Given the description of an element on the screen output the (x, y) to click on. 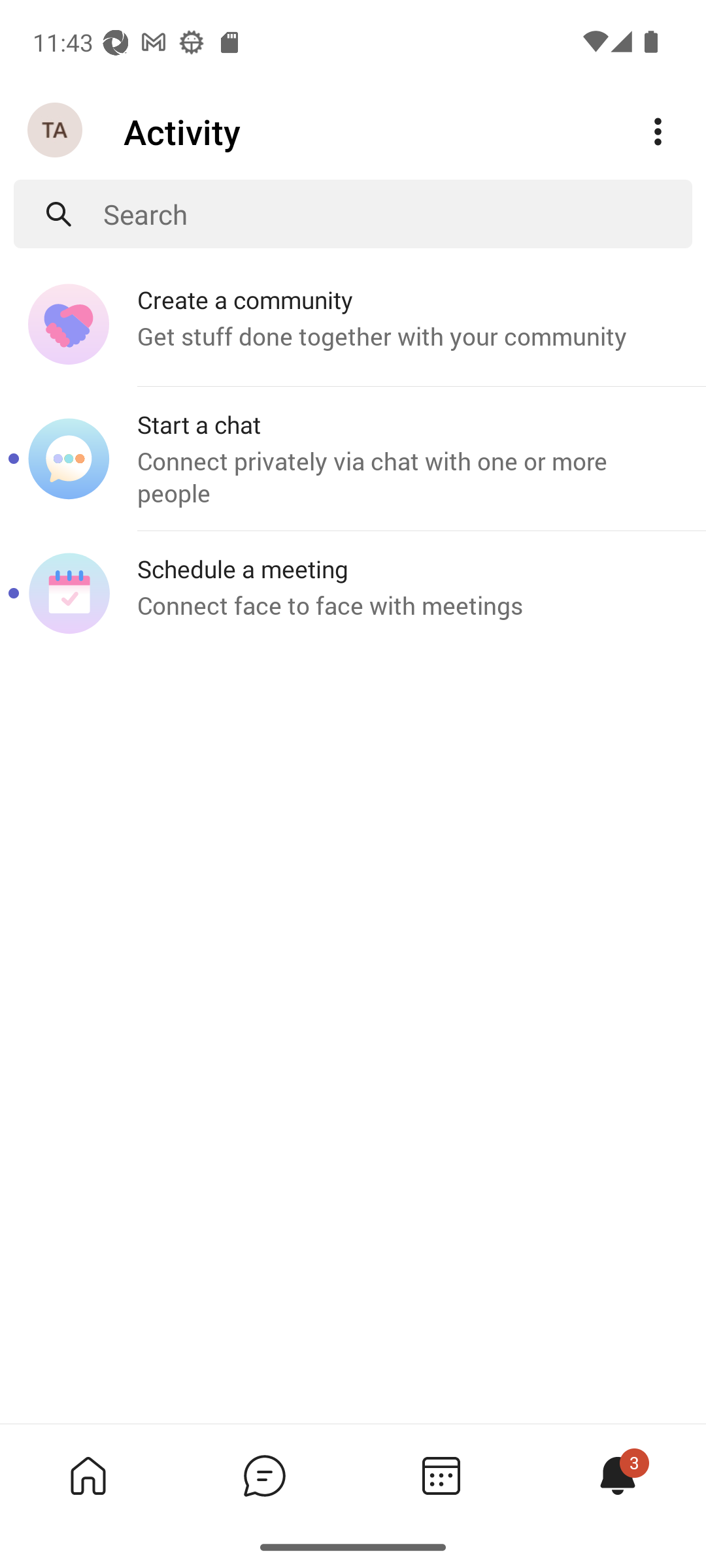
More options (657, 131)
Navigation (56, 130)
Search (397, 213)
Home tab,1 of 4, not selected (88, 1475)
Chat tab,2 of 4, not selected (264, 1475)
Calendar tab,3 of 4, not selected (441, 1475)
Activity tab, 4 of 4, 3 new 3 (617, 1475)
